Given the description of an element on the screen output the (x, y) to click on. 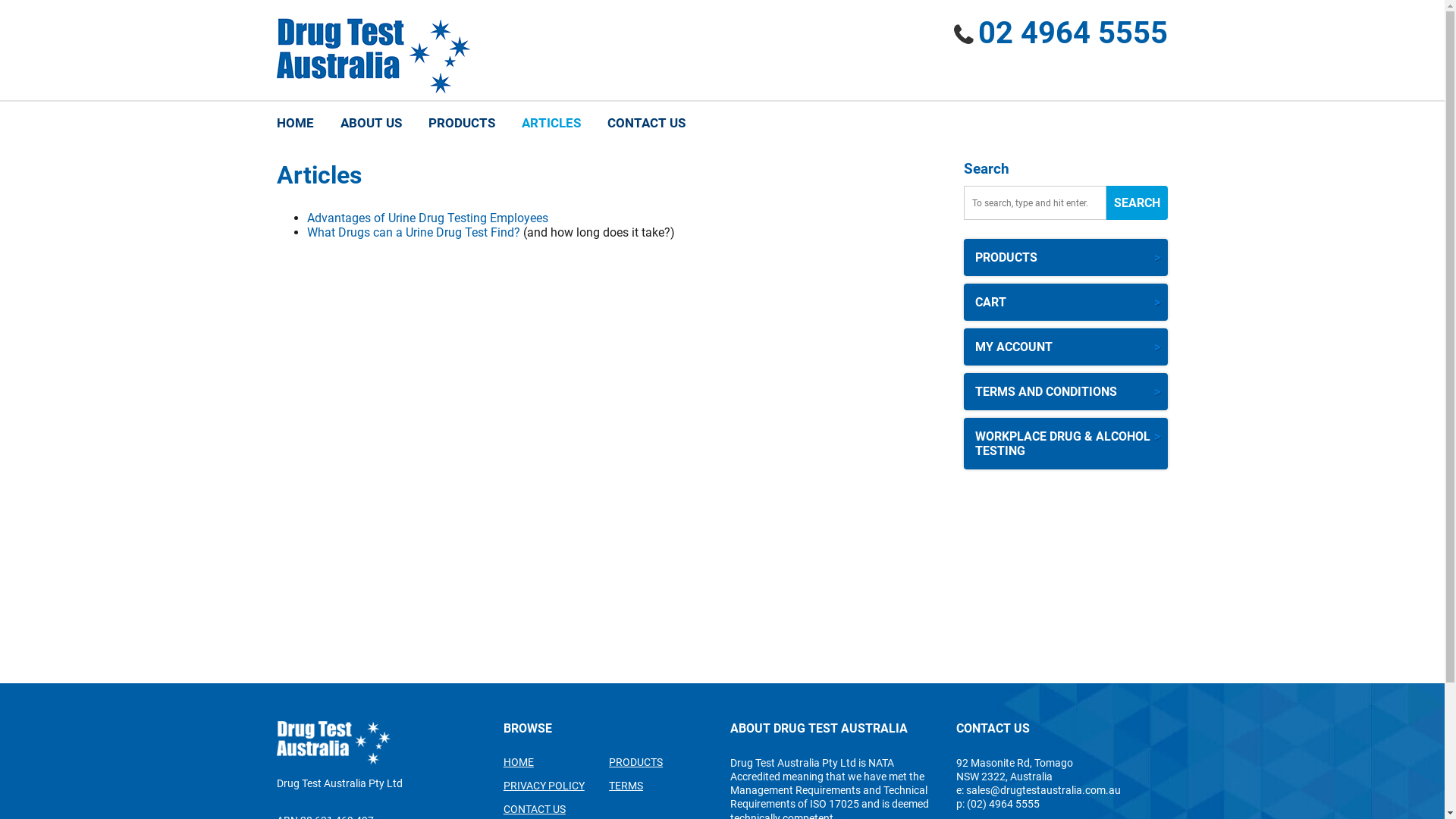
What Drugs can a Urine Drug Test Find? Element type: text (415, 232)
CONTACT US Element type: text (555, 809)
WORKPLACE DRUG & ALCOHOL TESTING Element type: text (1065, 443)
TERMS AND CONDITIONS Element type: text (1065, 391)
Advantages of Urine Drug Testing Employees Element type: text (427, 217)
PRODUCTS Element type: text (661, 762)
HOME Element type: text (300, 122)
02 4964 5555 Element type: text (1072, 32)
PRIVACY POLICY Element type: text (555, 785)
ARTICLES Element type: text (551, 122)
ABOUT US Element type: text (371, 122)
HOME Element type: text (555, 762)
CART Element type: text (1065, 301)
PRODUCTS Element type: text (1065, 257)
PRODUCTS Element type: text (461, 122)
SEARCH Element type: text (1136, 202)
TERMS Element type: text (661, 785)
MY ACCOUNT Element type: text (1065, 346)
CONTACT US Element type: text (646, 122)
